Given the description of an element on the screen output the (x, y) to click on. 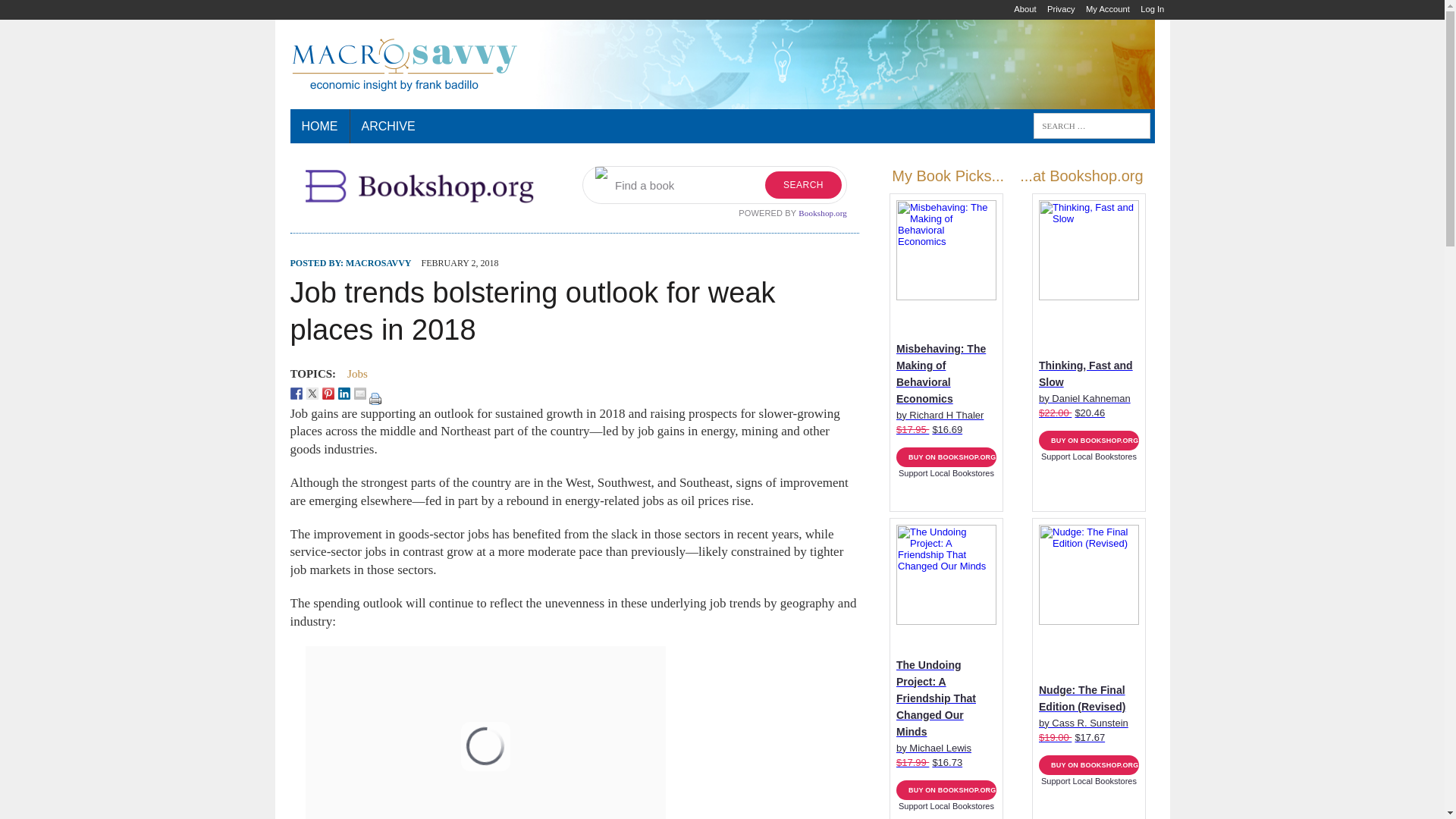
About (1025, 9)
Jobs (357, 373)
Pin it with Pinterest (327, 393)
Share on Linkedin (343, 393)
Share on Twitter (311, 393)
MACROSAVVY (378, 262)
Share on Facebook (295, 393)
Privacy (1061, 9)
FrankBadillo.com (721, 64)
Log In (1152, 9)
Search (56, 14)
ARCHIVE (388, 126)
HOME (319, 126)
My Account (1107, 9)
Share by email (359, 393)
